Given the description of an element on the screen output the (x, y) to click on. 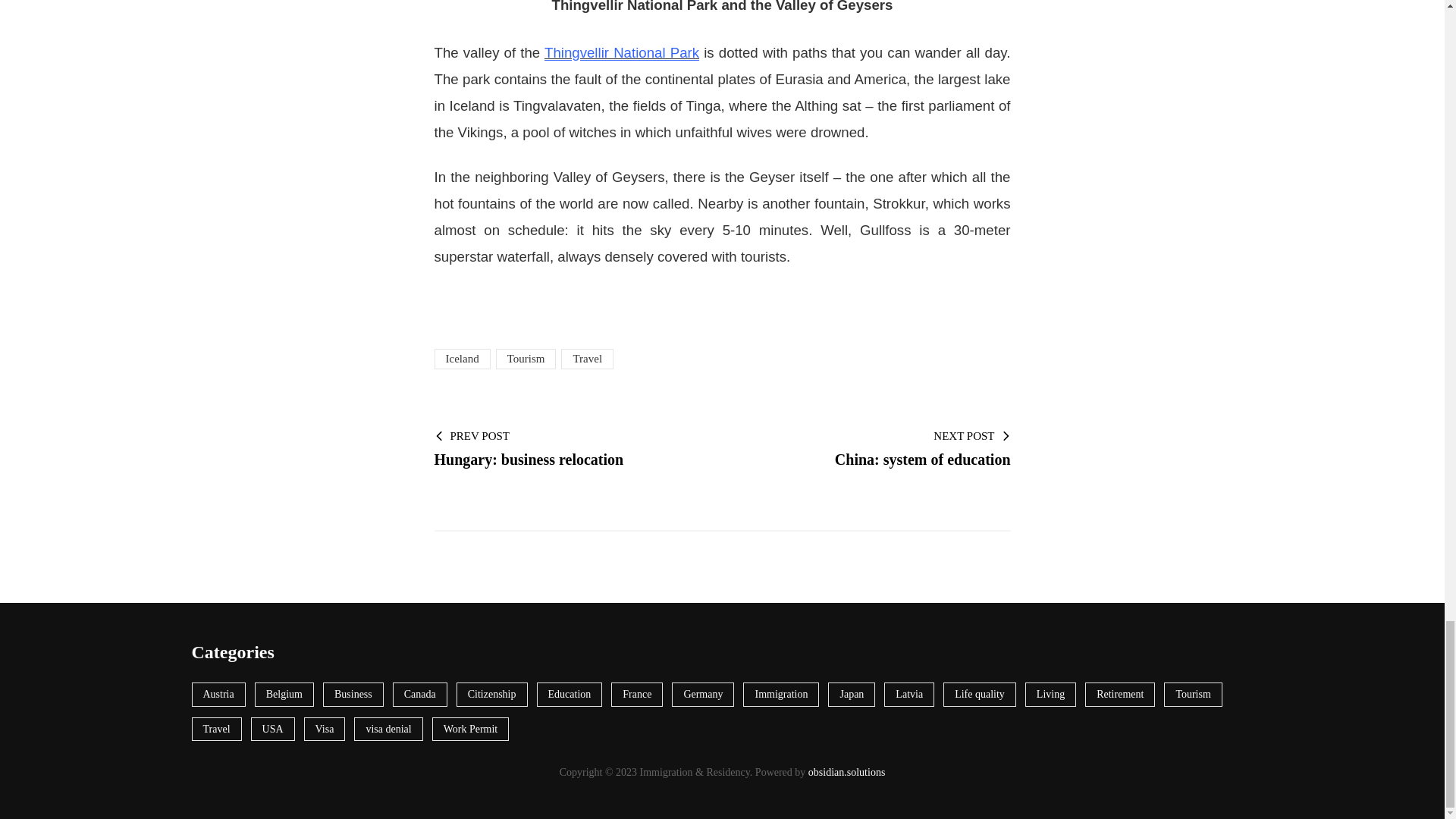
Immigration (780, 694)
Thingvellir National Park (565, 447)
Germany (621, 52)
Latvia (702, 694)
Travel (908, 694)
Japan (215, 729)
Belgium (851, 694)
Citizenship (284, 694)
Iceland (492, 694)
obsidian.solutions (461, 358)
Travel (846, 772)
Retirement (586, 358)
Canada (1119, 694)
